Given the description of an element on the screen output the (x, y) to click on. 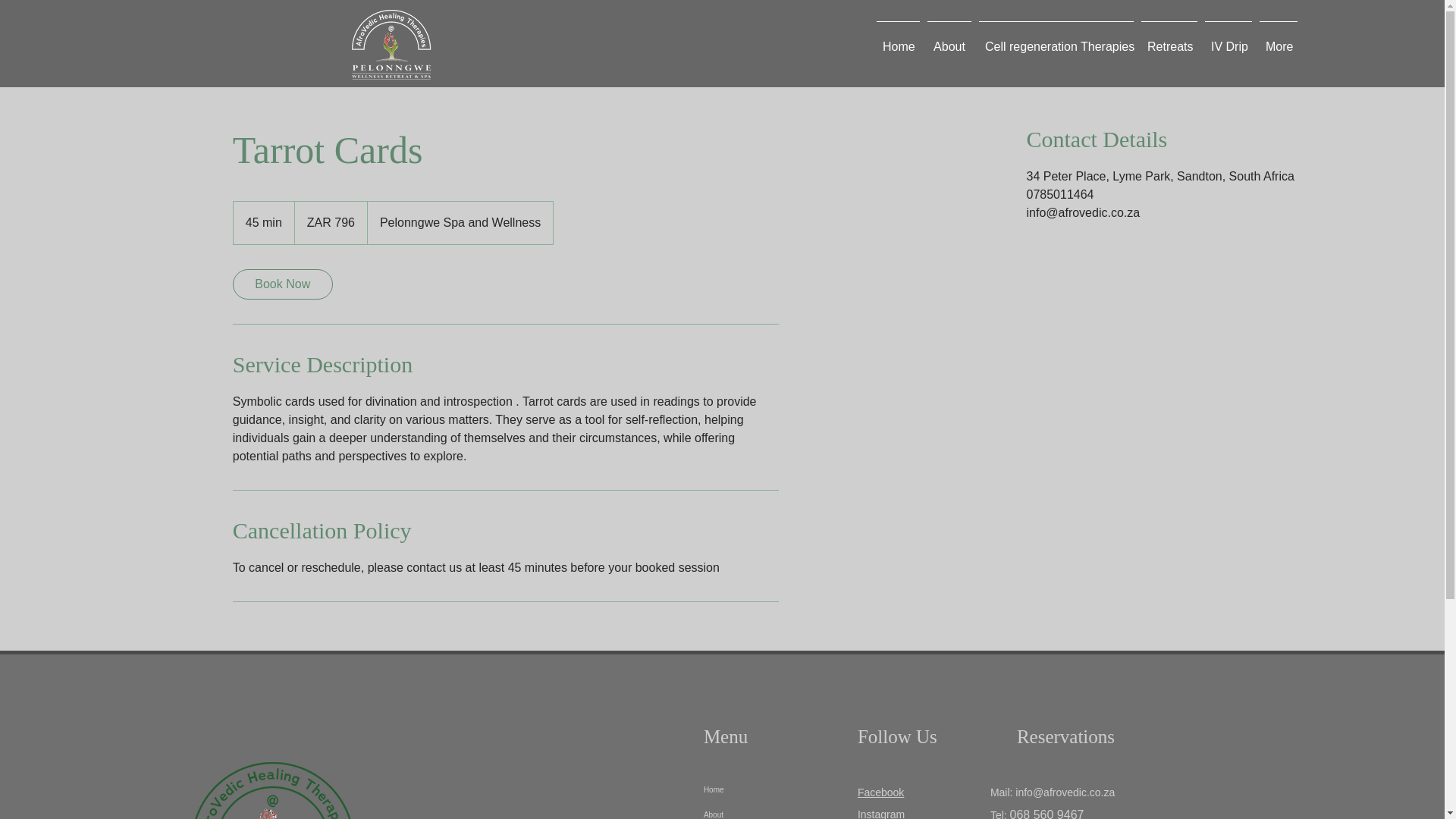
logo-130.png (274, 790)
Instagram (880, 813)
Book Now (282, 284)
IV Drip (1228, 39)
About (949, 39)
Home (897, 39)
About (765, 810)
Cell regeneration Therapies (1056, 39)
Facebook (880, 792)
Retreats (1169, 39)
Home (765, 789)
